Given the description of an element on the screen output the (x, y) to click on. 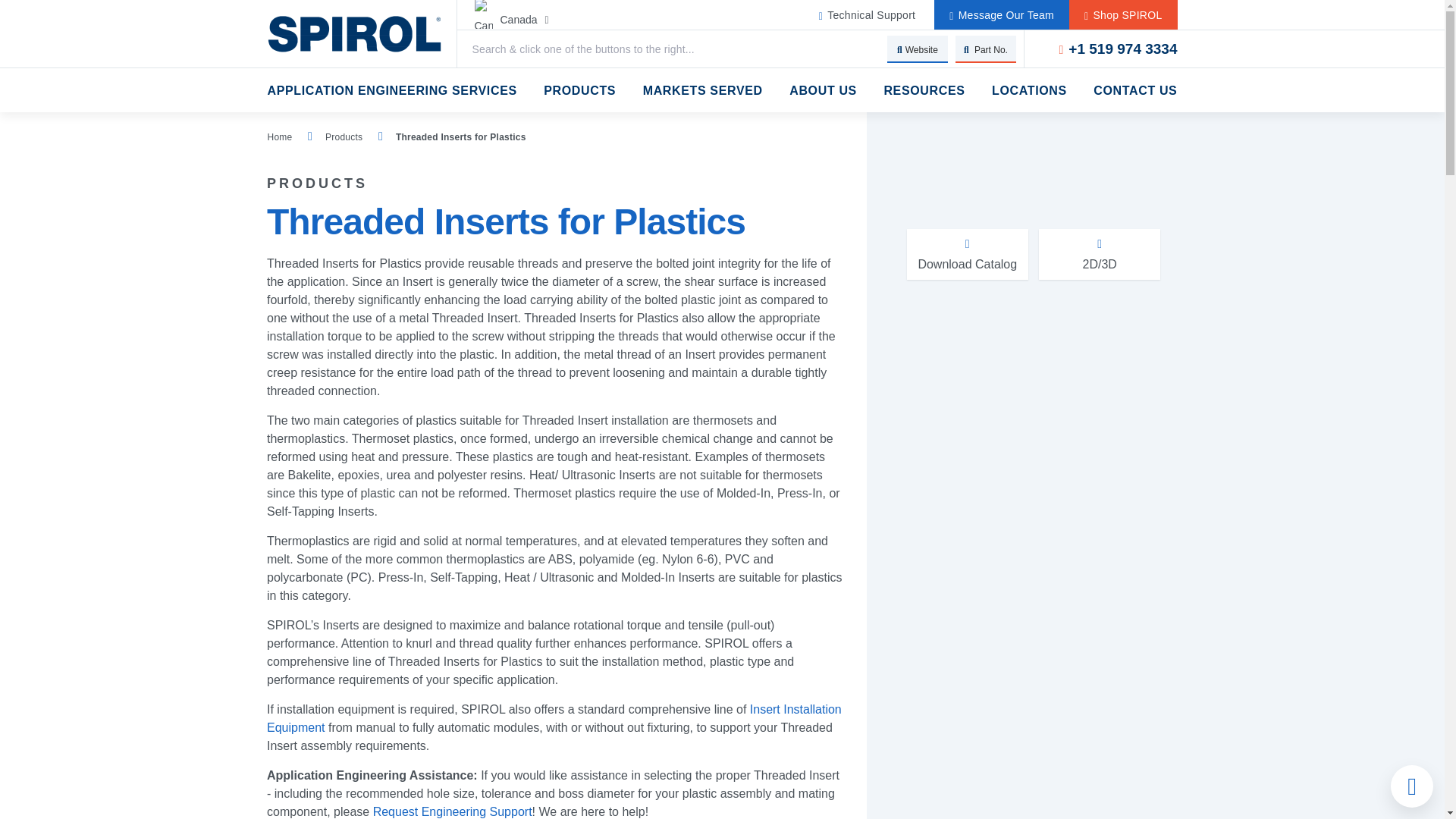
Technical Support (866, 15)
Website (916, 49)
APPLICATION ENGINEERING SERVICES (391, 89)
Message Our Team (1001, 15)
Part No. (985, 49)
PRODUCTS (579, 89)
Shop SPIROL (1122, 15)
Canada (547, 20)
Home - SPIROL (361, 33)
